Given the description of an element on the screen output the (x, y) to click on. 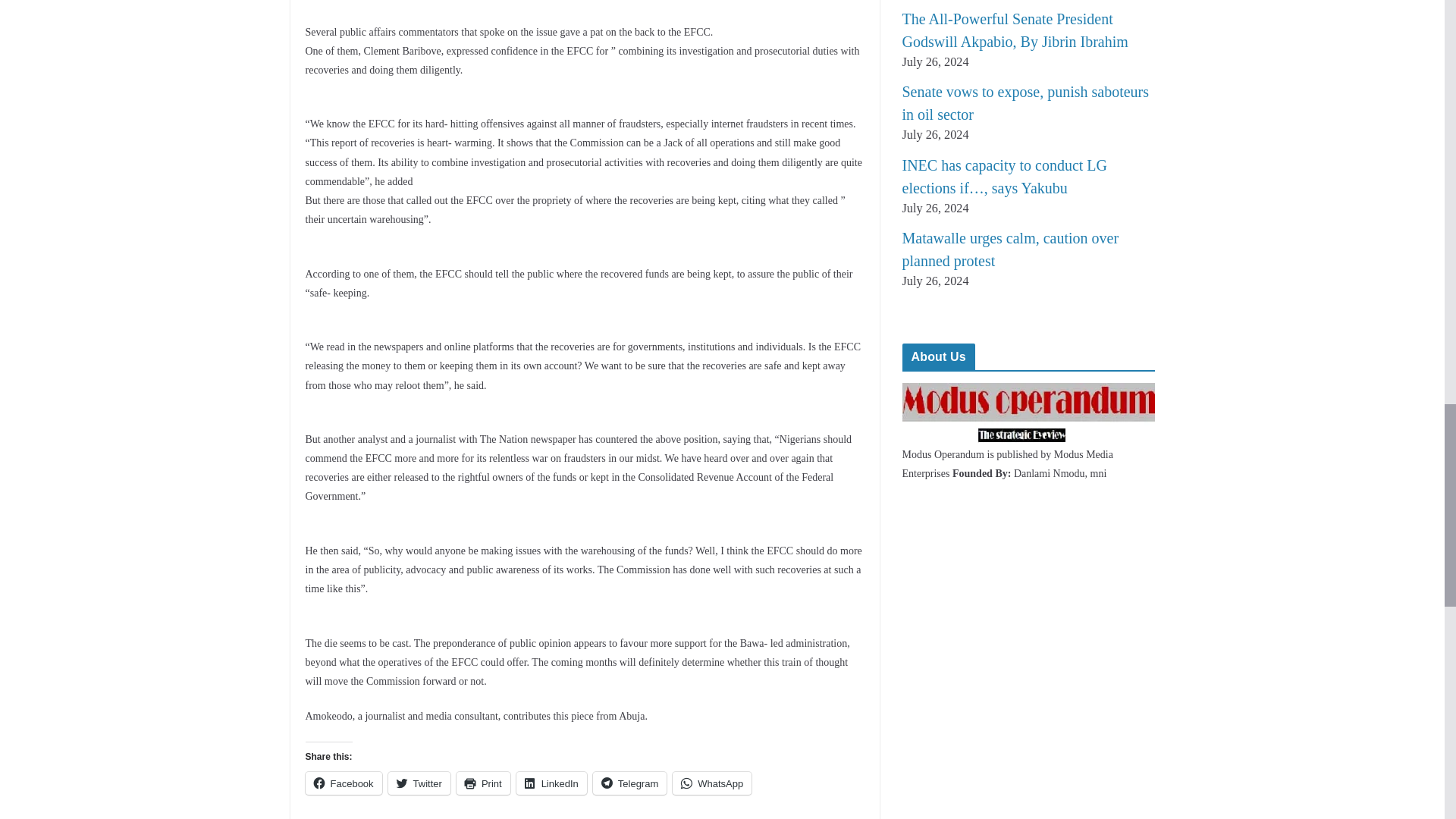
Click to share on Twitter (418, 783)
Telegram (629, 783)
Print (484, 783)
Twitter (418, 783)
WhatsApp (711, 783)
Click to share on Facebook (342, 783)
LinkedIn (551, 783)
Facebook (342, 783)
